Given the description of an element on the screen output the (x, y) to click on. 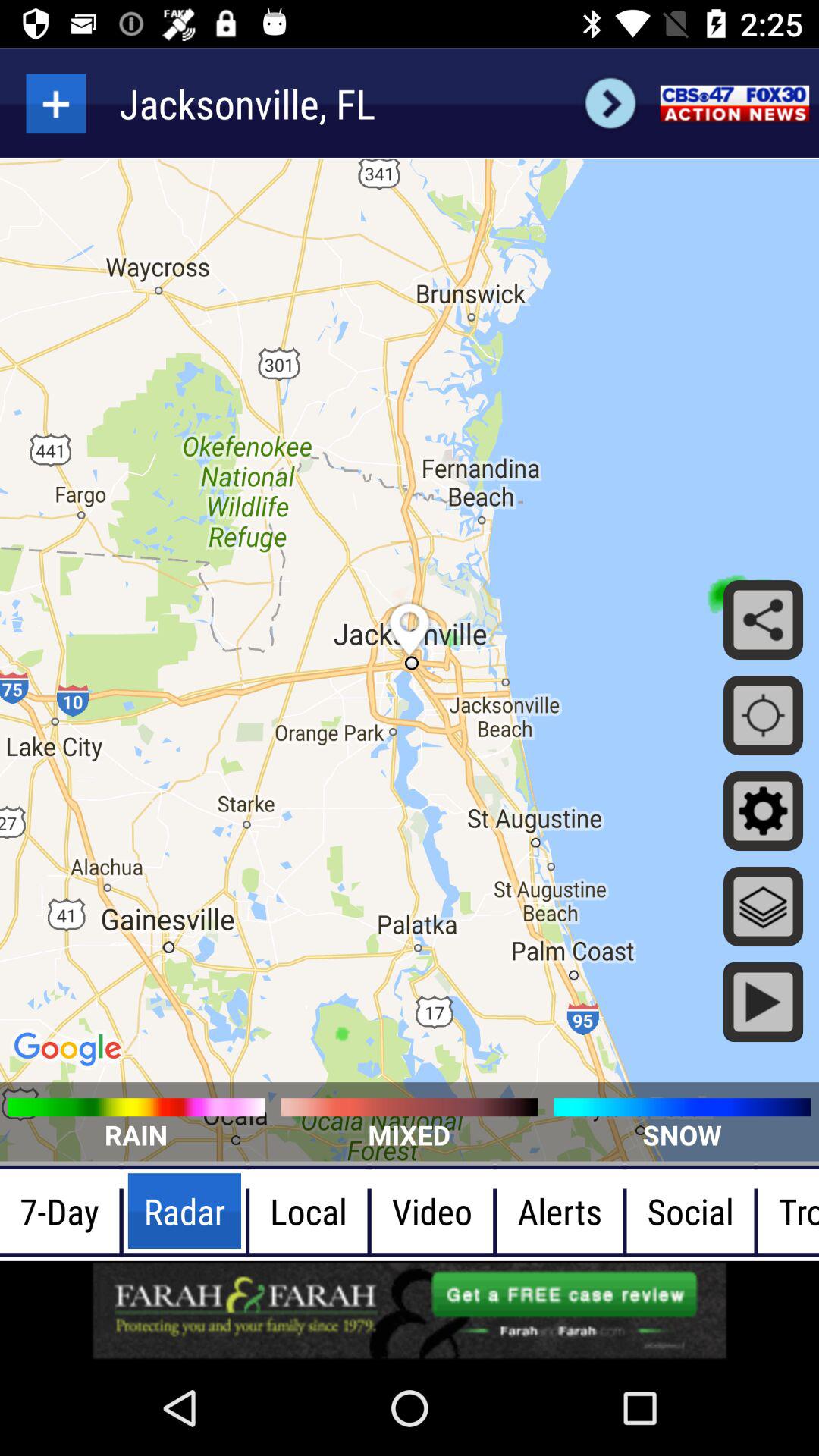
go to searching option (55, 103)
